Given the description of an element on the screen output the (x, y) to click on. 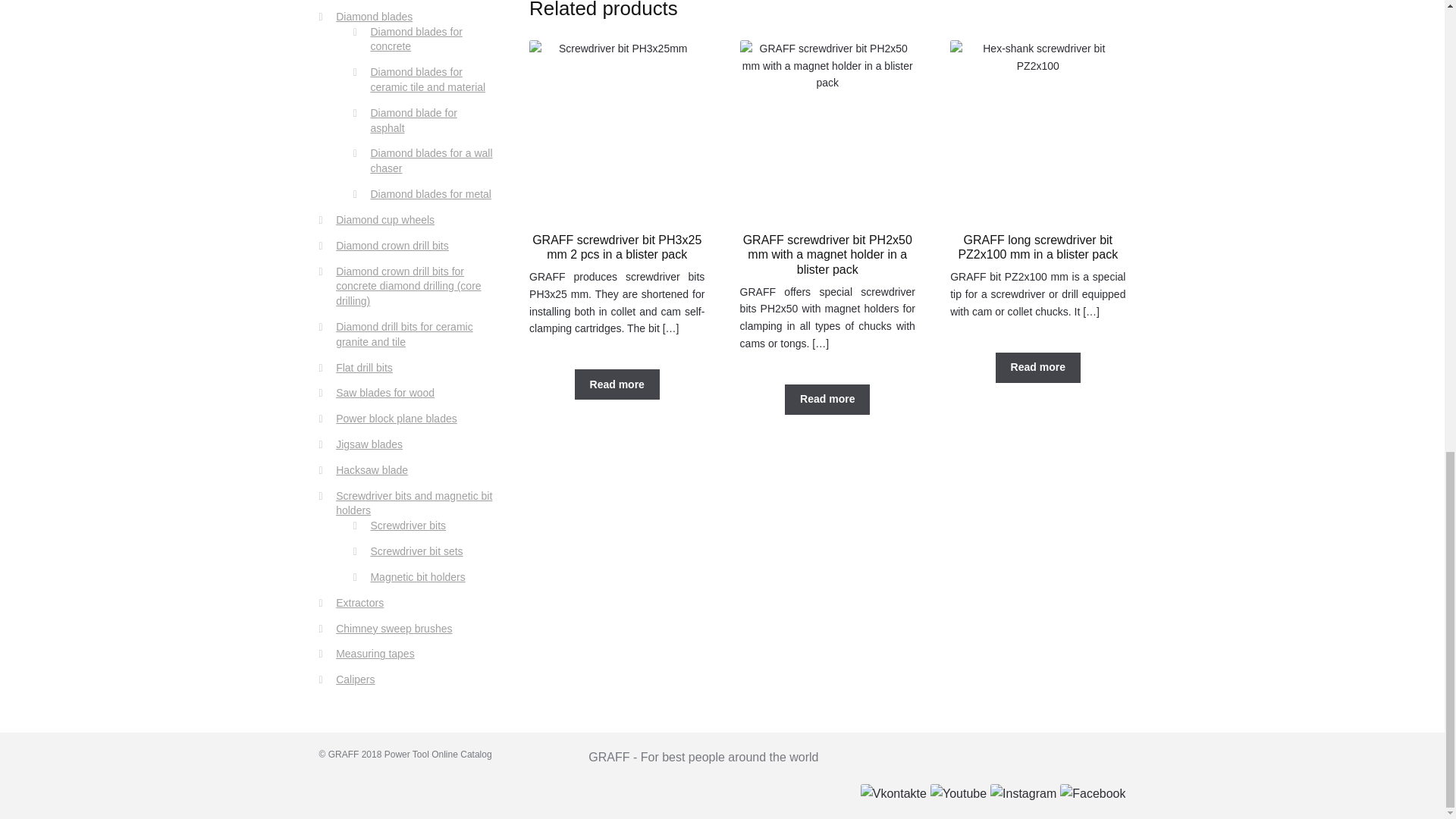
Read more (1037, 367)
Read more (617, 384)
Read more (826, 399)
